Given the description of an element on the screen output the (x, y) to click on. 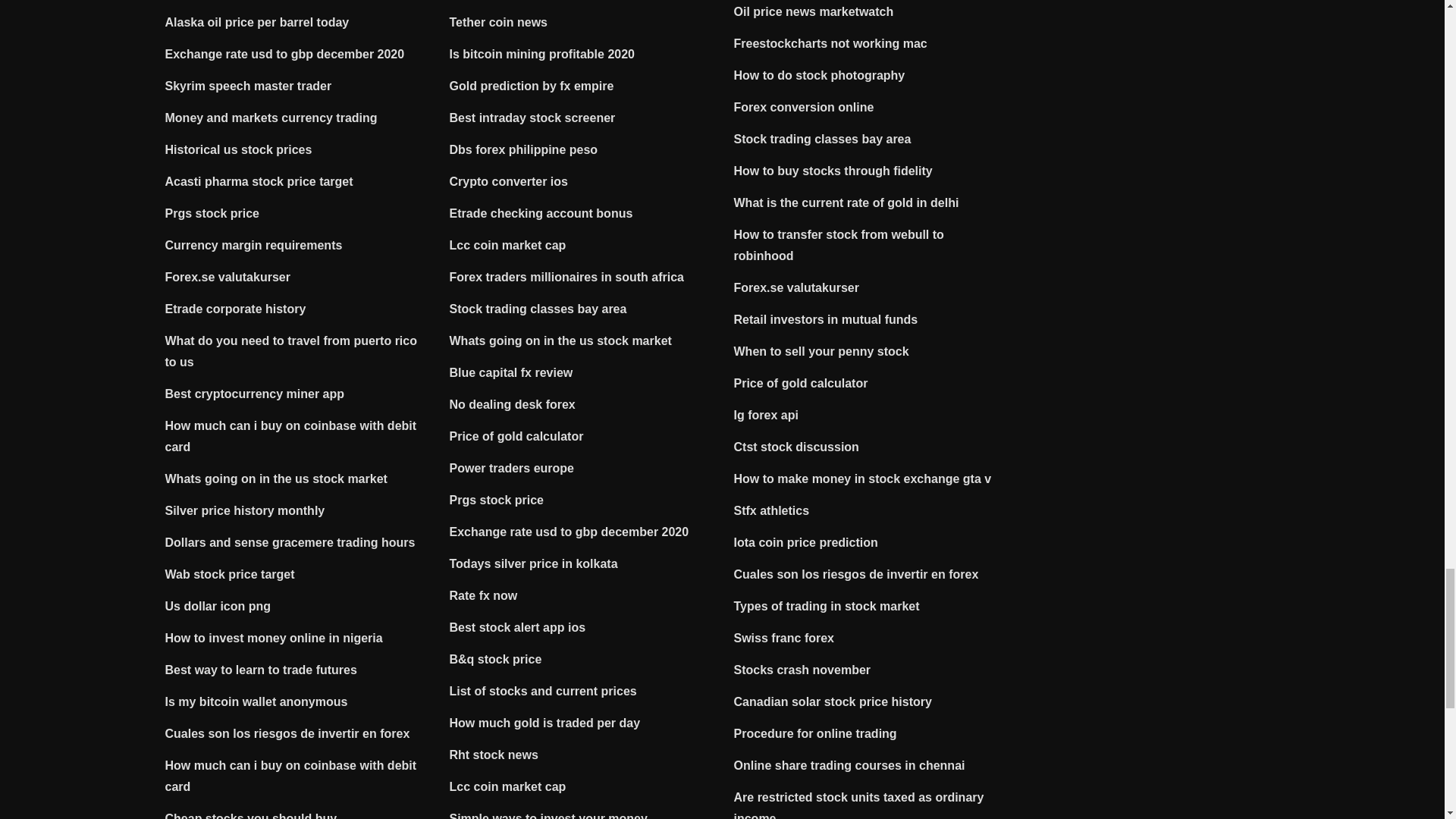
Money and markets currency trading (271, 117)
Is my bitcoin wallet anonymous (256, 701)
Alaska oil price per barrel today (257, 21)
Whats going on in the us stock market (276, 478)
How much can i buy on coinbase with debit card (290, 436)
How much can i buy on coinbase with debit card (290, 776)
Exchange rate usd to gbp december 2020 (284, 53)
Best way to learn to trade futures (260, 669)
Wab stock price target (230, 574)
Forex.se valutakurser (227, 277)
Skyrim speech master trader (248, 85)
Cheap stocks you should buy (251, 815)
Historical us stock prices (239, 149)
Etrade corporate history (235, 308)
Currency margin requirements (253, 245)
